Given the description of an element on the screen output the (x, y) to click on. 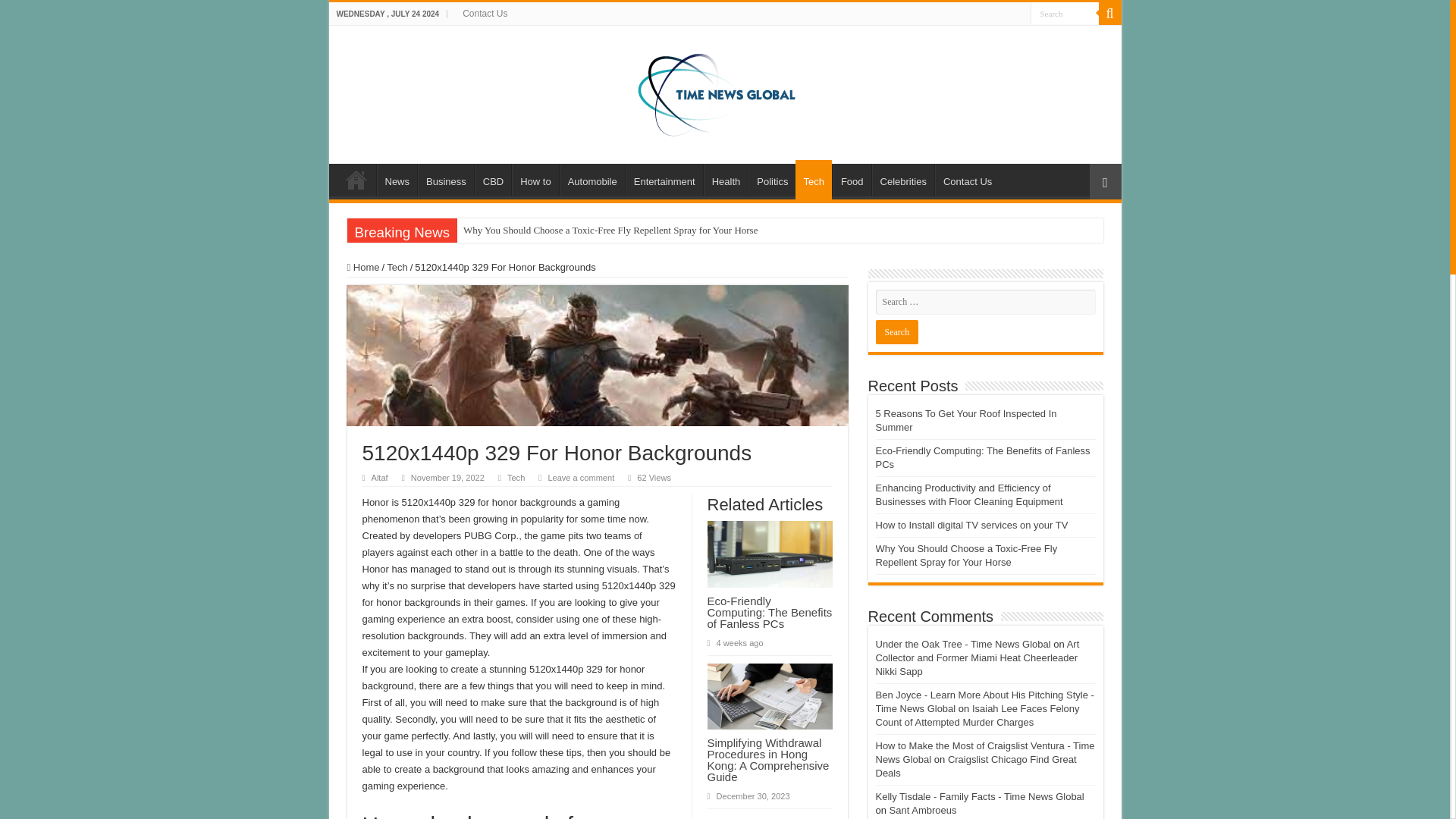
CBD (492, 179)
Search (1063, 13)
Tech (812, 179)
Food (851, 179)
How to (534, 179)
Business (445, 179)
Search (896, 331)
Politics (771, 179)
Search (896, 331)
Search (1063, 13)
News (395, 179)
Contact Us (966, 179)
Search (1063, 13)
